Given the description of an element on the screen output the (x, y) to click on. 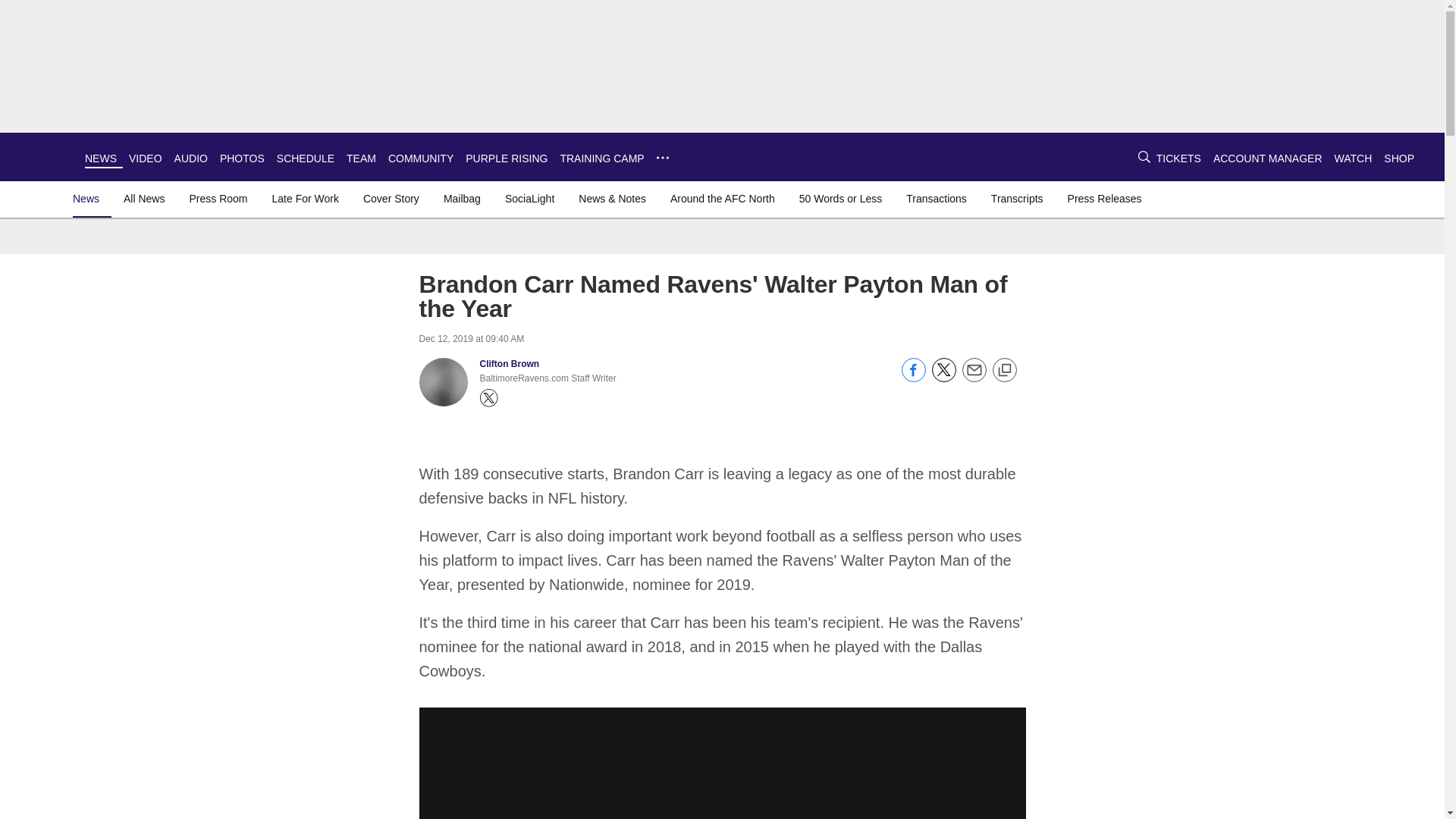
SHOP (1398, 158)
PURPLE RISING (506, 158)
TEAM (360, 158)
COMMUNITY (420, 158)
Press Room (218, 198)
TRAINING CAMP (601, 158)
TEAM (360, 158)
WATCH (1354, 158)
AUDIO (191, 158)
COMMUNITY (420, 158)
All News (143, 198)
TRAINING CAMP (601, 158)
PURPLE RISING (506, 158)
NEWS (100, 158)
NEWS (100, 158)
